Given the description of an element on the screen output the (x, y) to click on. 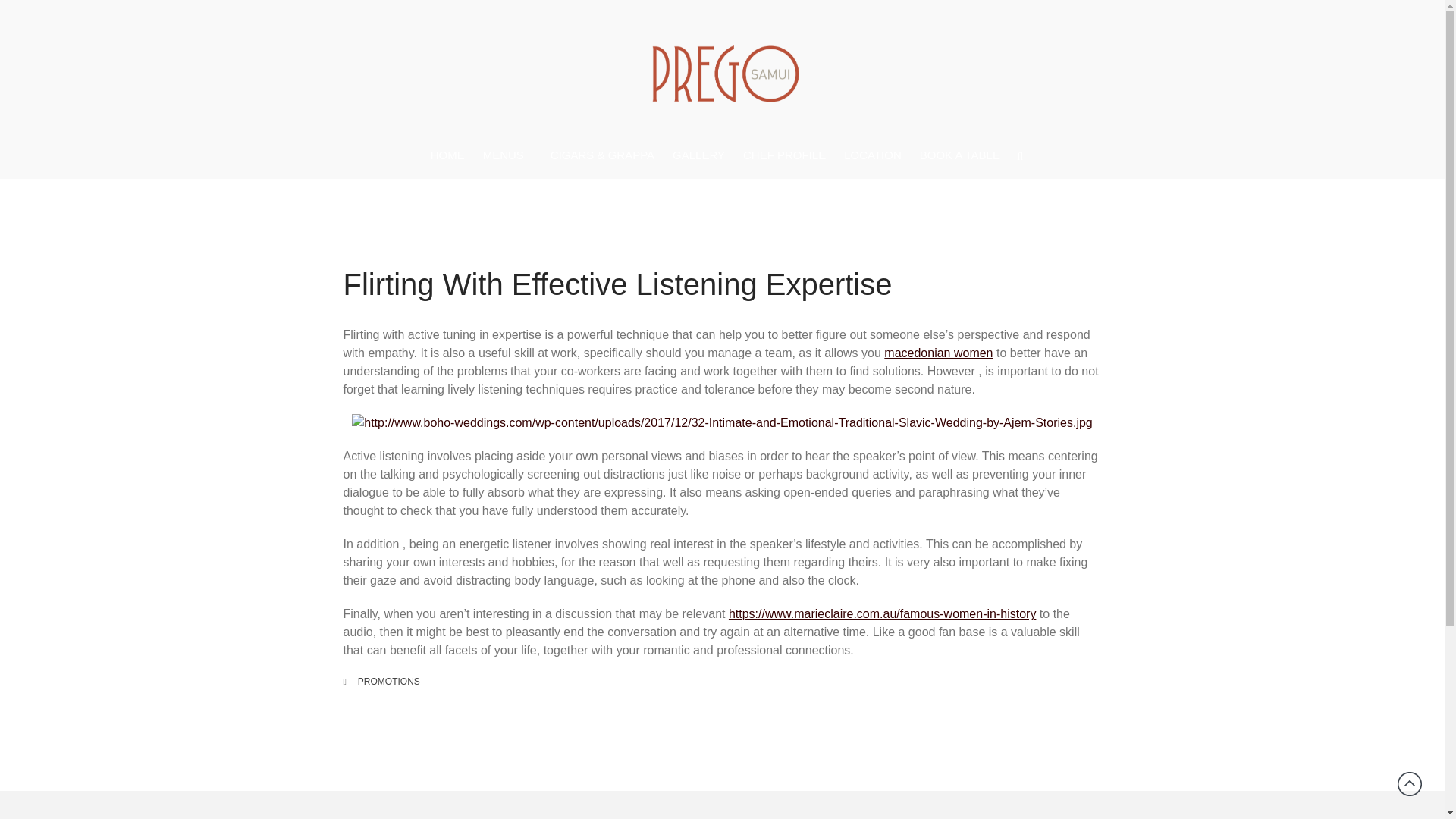
View all posts in PROMOTIONS (389, 681)
Prego Samui (686, 142)
Search (1356, 487)
LOCATION (871, 155)
MENUS (508, 155)
HOME (447, 155)
GALLERY (698, 155)
CHEF PROFILE (783, 155)
BOOK A TABLE (959, 155)
